Given the description of an element on the screen output the (x, y) to click on. 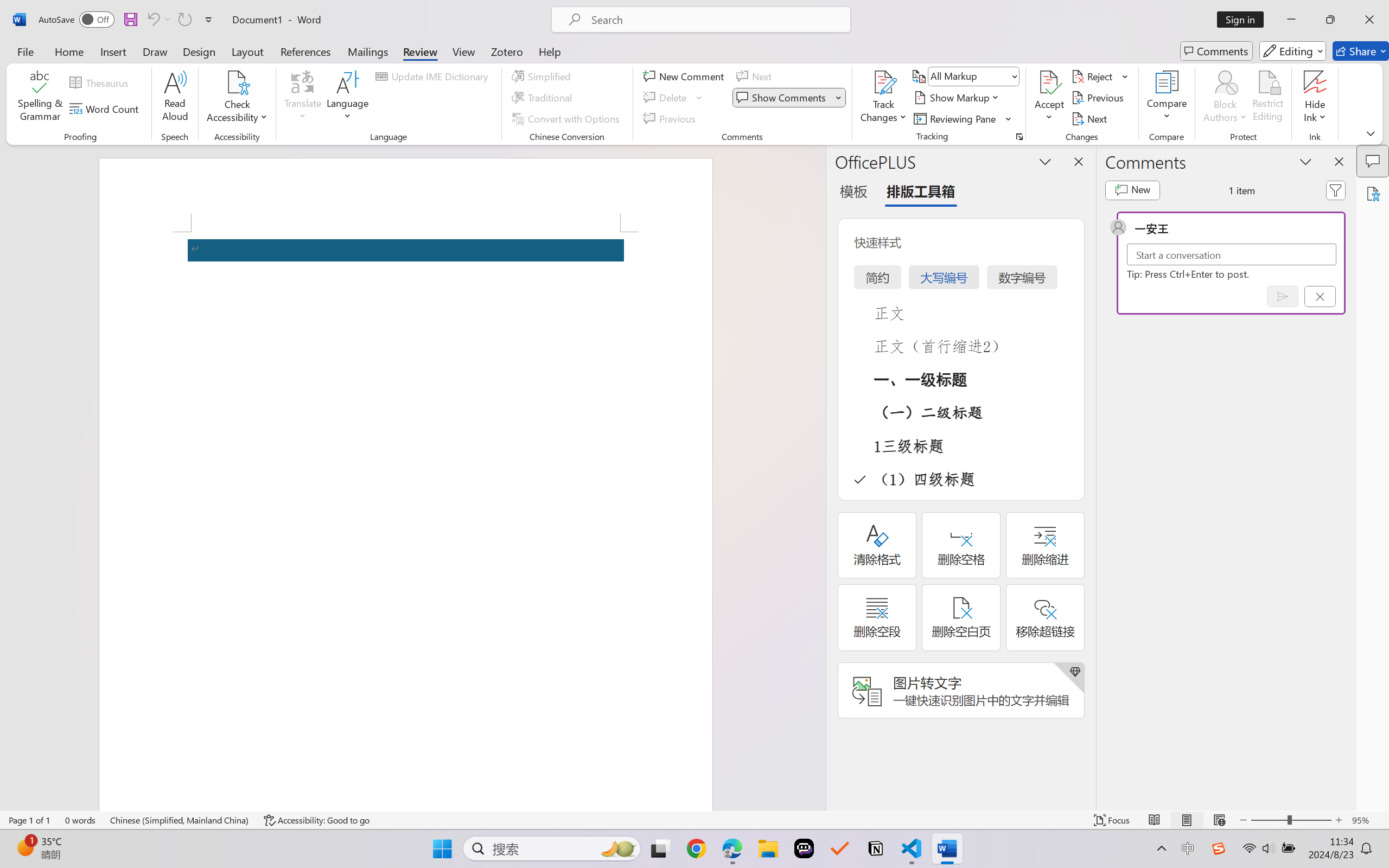
Hide Ink (1315, 81)
Previous (1099, 97)
New comment (1132, 190)
Check Accessibility (237, 97)
Reviewing Pane (955, 118)
Block Authors (1224, 97)
Filter (1335, 190)
